Given the description of an element on the screen output the (x, y) to click on. 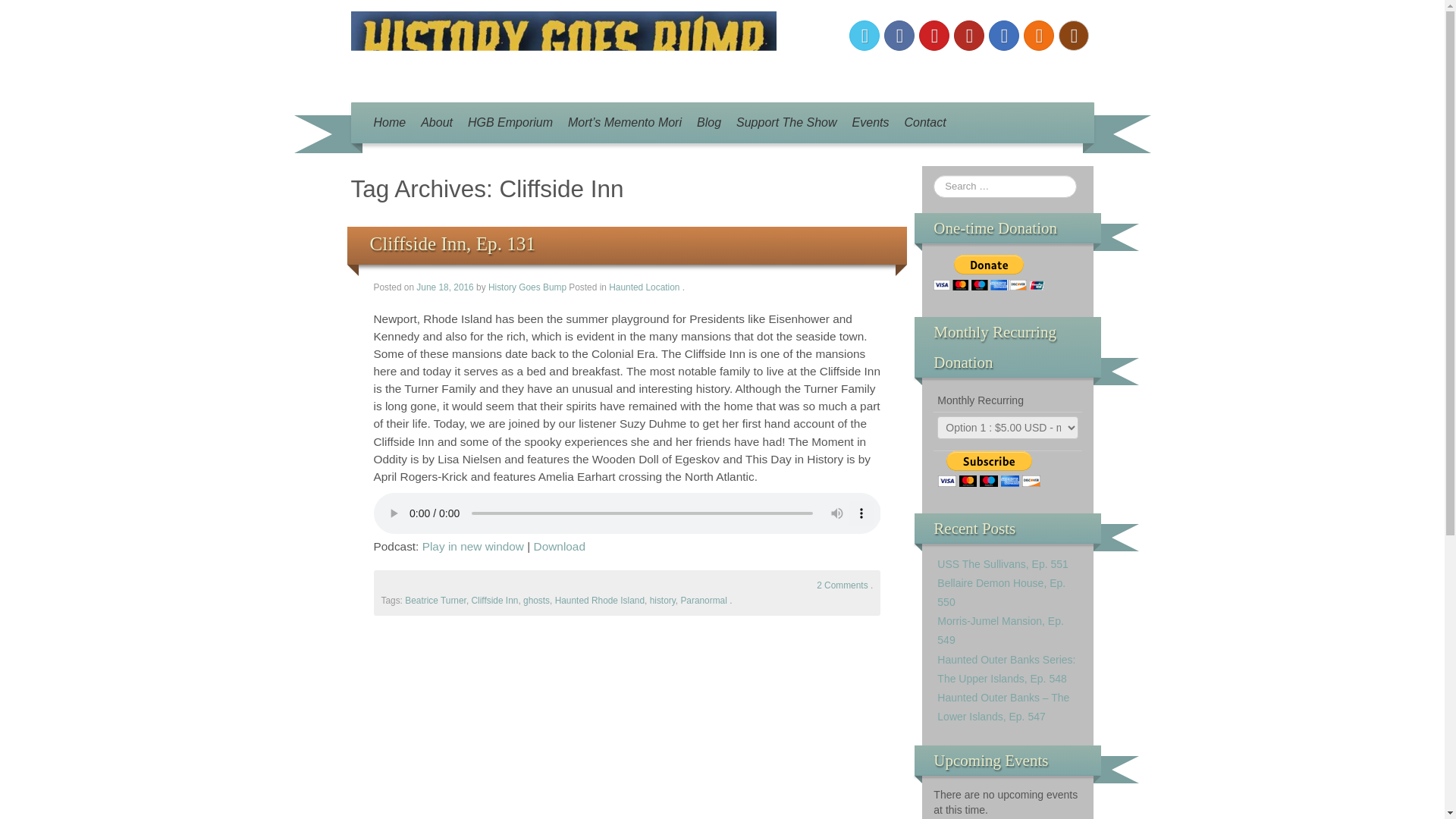
USS The Sullivans, Ep. 551 (1002, 563)
Download (559, 545)
Download (559, 545)
2 Comments (841, 584)
Play in new window (473, 545)
Haunted Location (643, 286)
June 18, 2016 (446, 286)
About (436, 122)
Home (389, 122)
Cliffside Inn (494, 600)
